Given the description of an element on the screen output the (x, y) to click on. 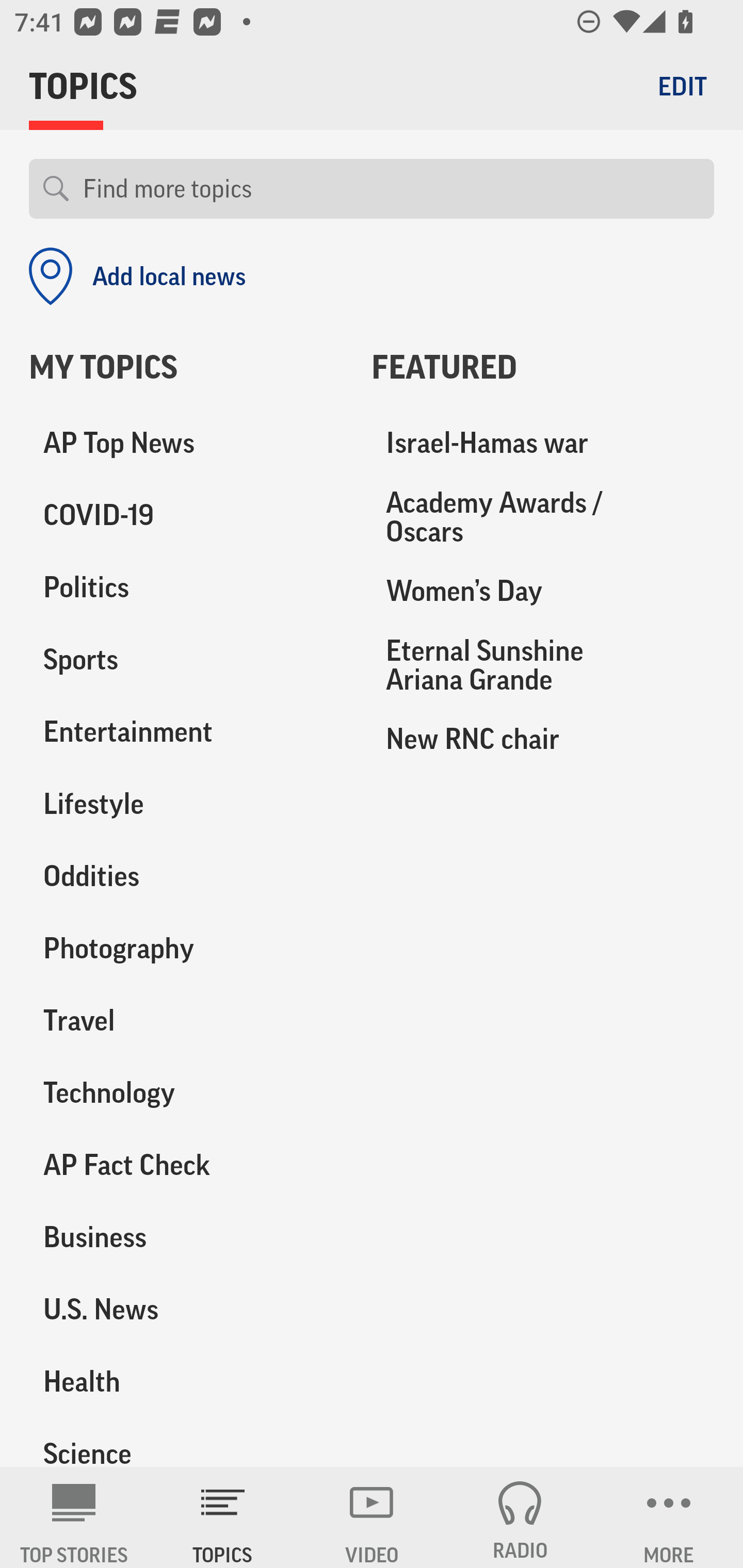
EDIT (682, 86)
Find more topics (391, 188)
Add local news (137, 276)
AP Top News (185, 443)
Israel-Hamas war (542, 443)
COVID-19 (185, 515)
Academy Awards / Oscars (542, 517)
Politics (185, 587)
Women’s Day (542, 591)
Sports (185, 660)
Eternal Sunshine Ariana Grande (542, 664)
Entertainment (185, 732)
New RNC chair (542, 738)
Lifestyle (185, 804)
Oddities (185, 876)
Photography (185, 948)
Travel (185, 1020)
Technology (185, 1092)
AP Fact Check (185, 1164)
Business (185, 1237)
U.S. News (185, 1309)
Health (185, 1381)
Science (185, 1442)
AP News TOP STORIES (74, 1517)
TOPICS (222, 1517)
VIDEO (371, 1517)
RADIO (519, 1517)
MORE (668, 1517)
